Given the description of an element on the screen output the (x, y) to click on. 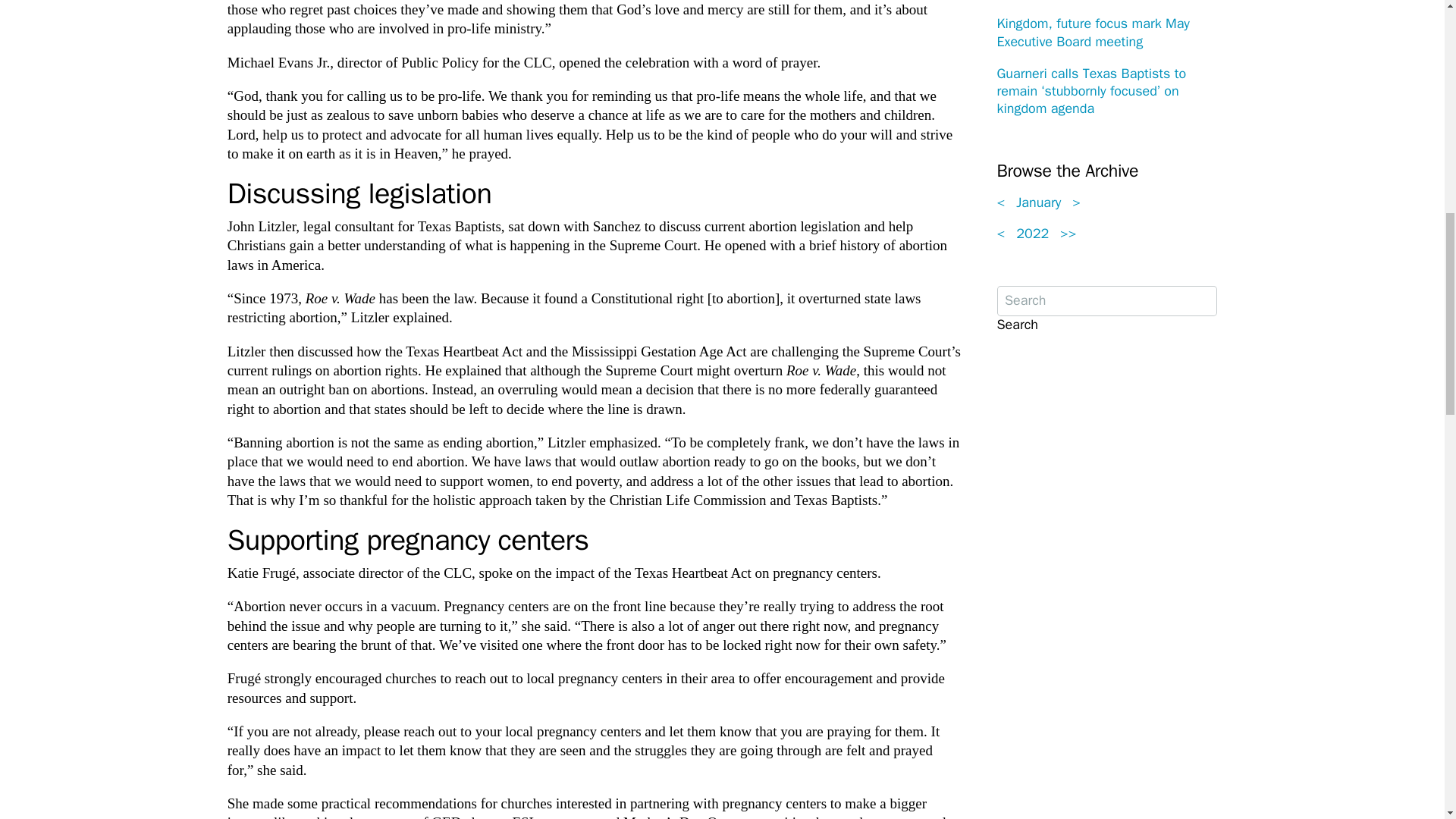
Search (1015, 324)
2022 (1033, 233)
Kingdom, future focus mark May Executive Board meeting (1092, 32)
January (1038, 202)
